Given the description of an element on the screen output the (x, y) to click on. 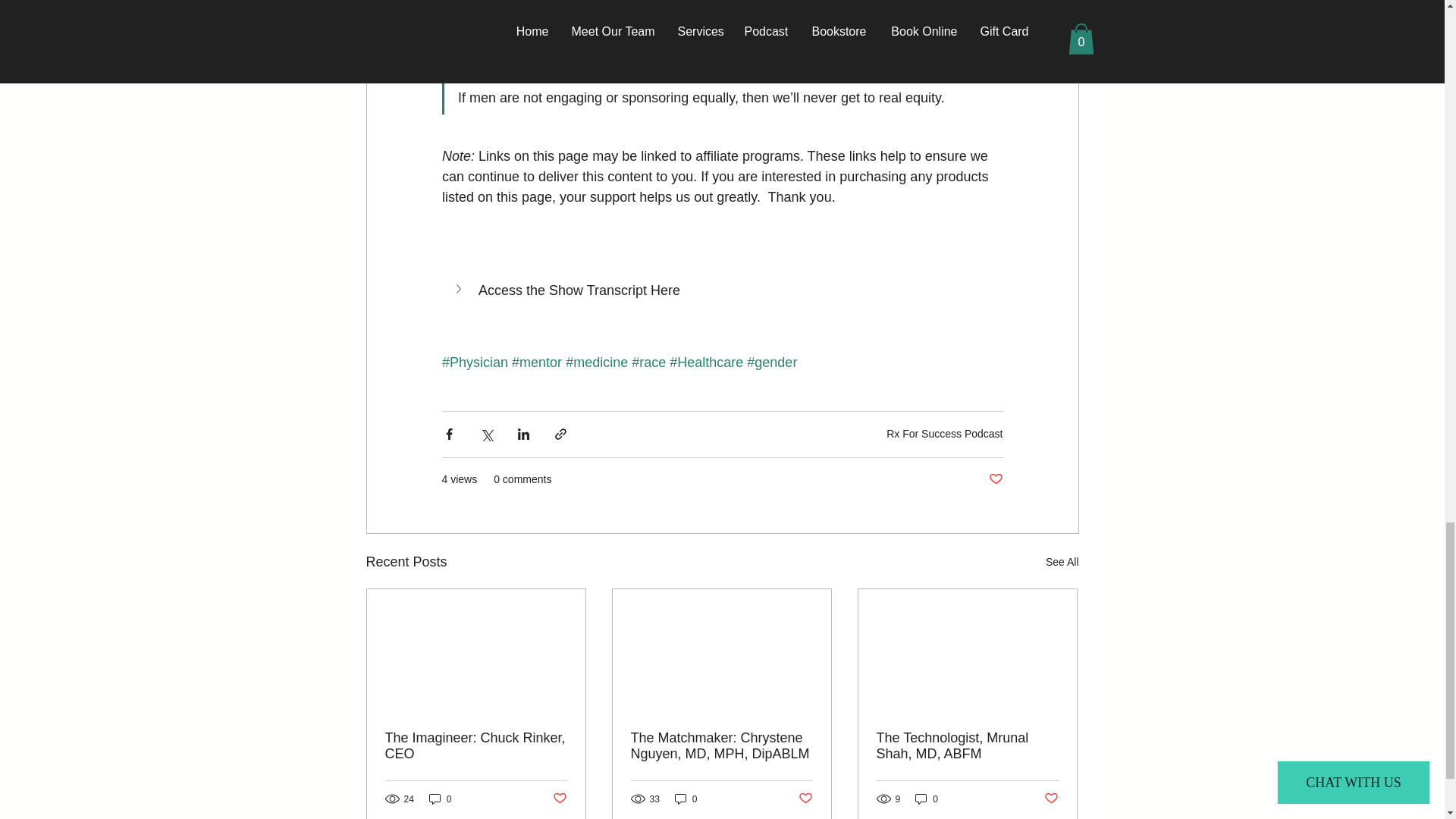
Post not marked as liked (558, 798)
The Imagineer: Chuck Rinker, CEO (476, 746)
Rx For Success Podcast (944, 433)
The Matchmaker: Chrystene Nguyen, MD, MPH, DipABLM (721, 746)
See All (1061, 562)
0 (440, 798)
Post not marked as liked (995, 479)
